Given the description of an element on the screen output the (x, y) to click on. 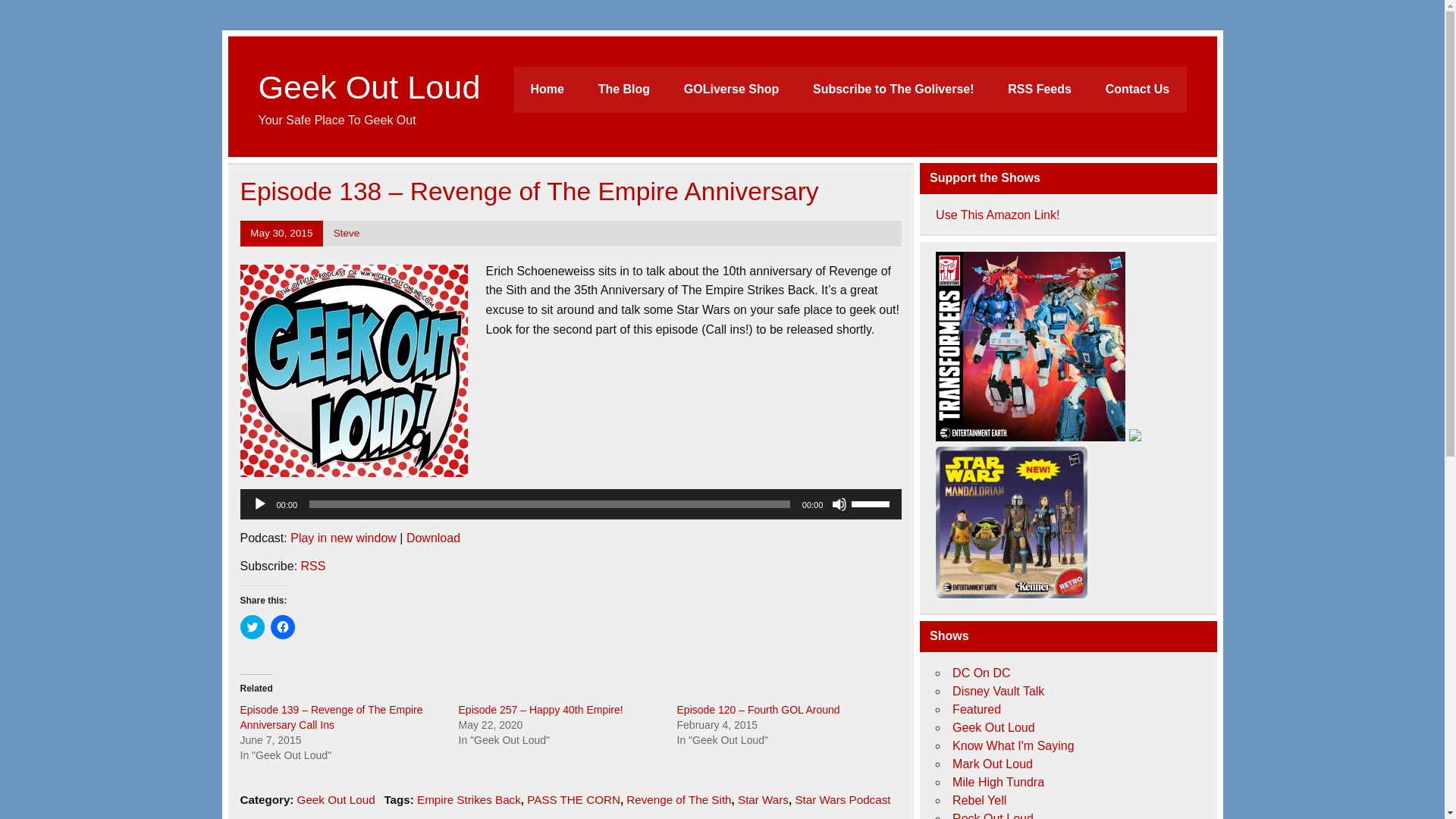
The Blog (623, 89)
Play in new window (342, 537)
Mile High Tundra (997, 781)
Featured (976, 708)
Click to share on Twitter (251, 627)
Use This Amazon Link! (997, 214)
Play (258, 503)
Star Wars (763, 799)
PASS THE CORN (573, 799)
Download (433, 537)
Click to share on Facebook (281, 627)
Geek Out Loud (993, 727)
Empire Strikes Back (468, 799)
Know What I'm Saying (1013, 745)
Subscribe via RSS (313, 565)
